Given the description of an element on the screen output the (x, y) to click on. 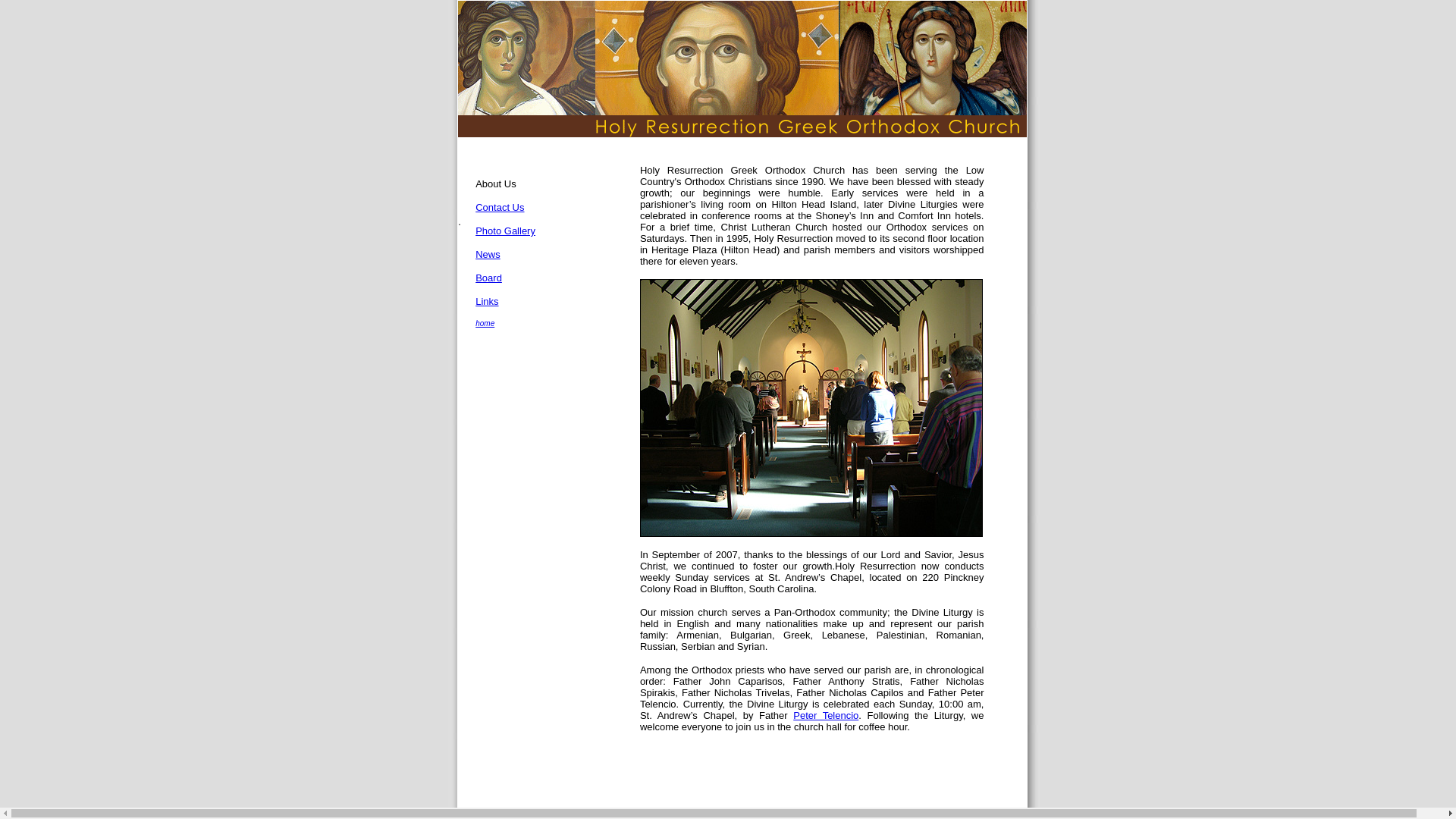
home (485, 323)
Photo Gallery (505, 230)
Links (486, 301)
News (488, 254)
Contact Us (500, 206)
Peter Telencio (826, 715)
Board (489, 277)
